Given the description of an element on the screen output the (x, y) to click on. 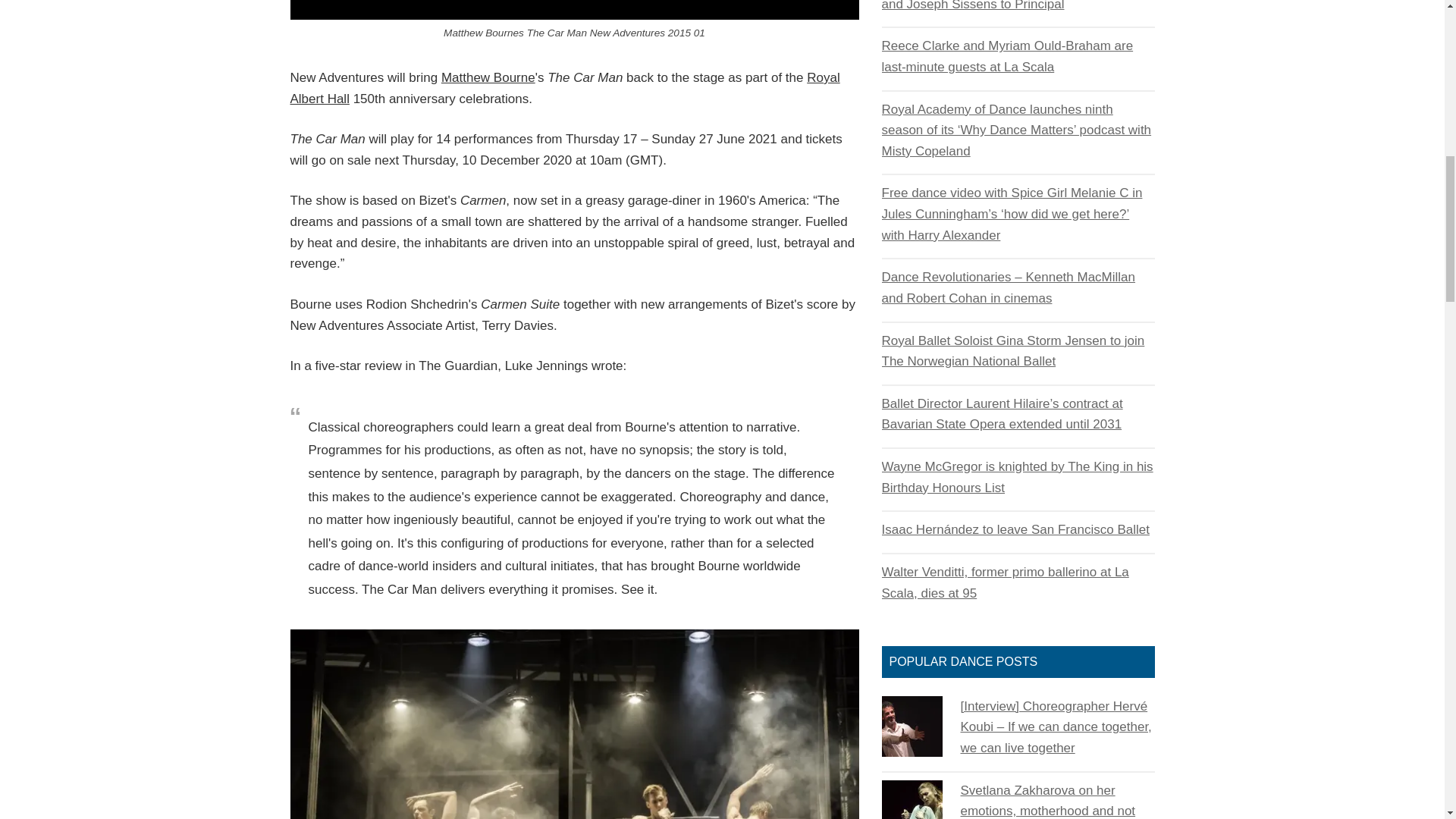
Matthew Bourne (488, 77)
Royal Albert Hall (564, 88)
Posts tagged with Royal Albert Hall (564, 88)
Matthew Bournes The Car Man New Adventures 2015 01 (574, 9)
Posts tagged with Matthew Bourne (488, 77)
Matthew Bournes The Car Man New Adventures 2015 02 (574, 724)
